Given the description of an element on the screen output the (x, y) to click on. 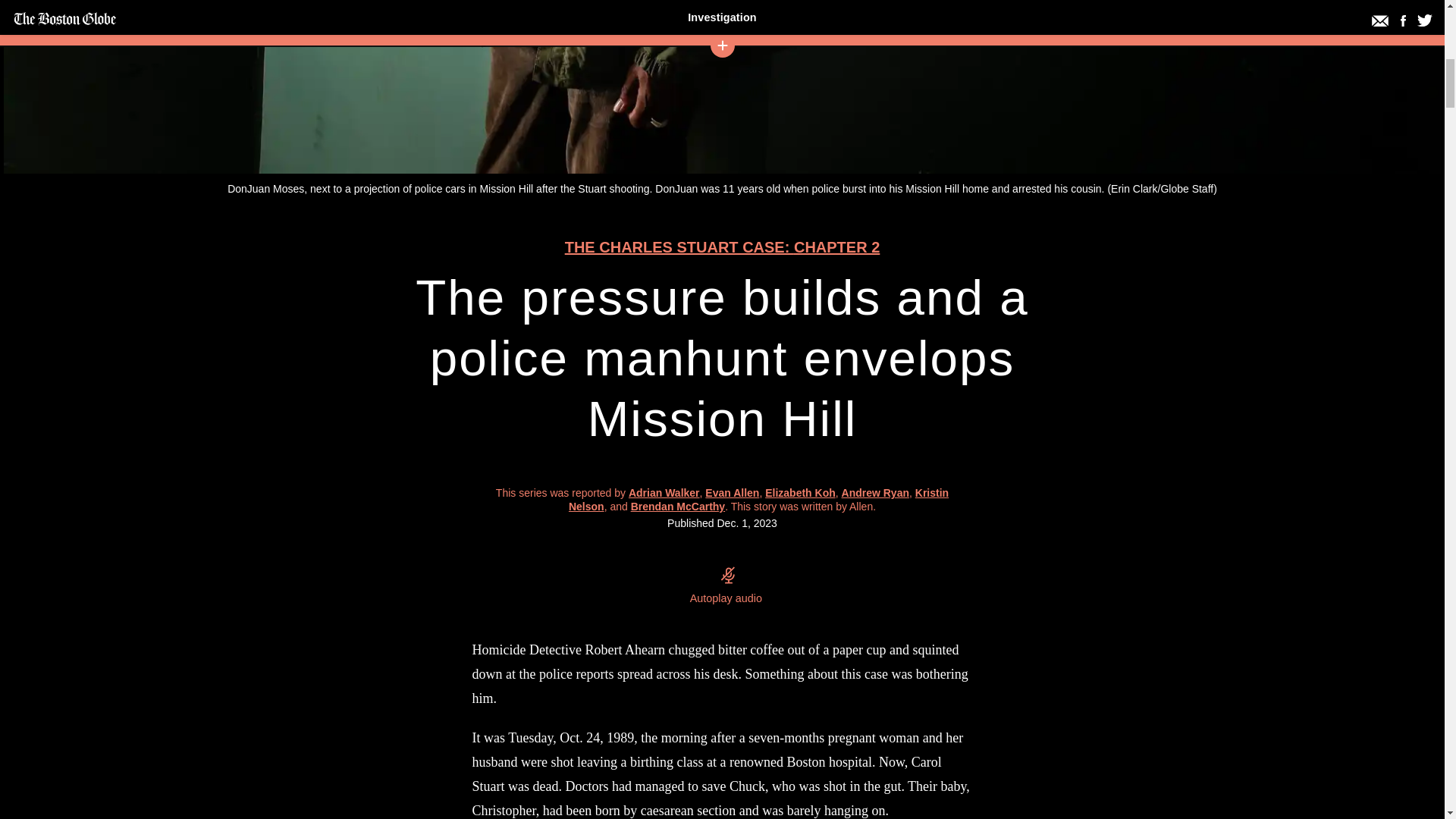
Evan Allen (731, 492)
Adrian Walker (664, 492)
Andrew Ryan (874, 492)
Elizabeth Koh (722, 247)
Kristin Nelson (800, 492)
Brendan McCarthy (759, 499)
